Given the description of an element on the screen output the (x, y) to click on. 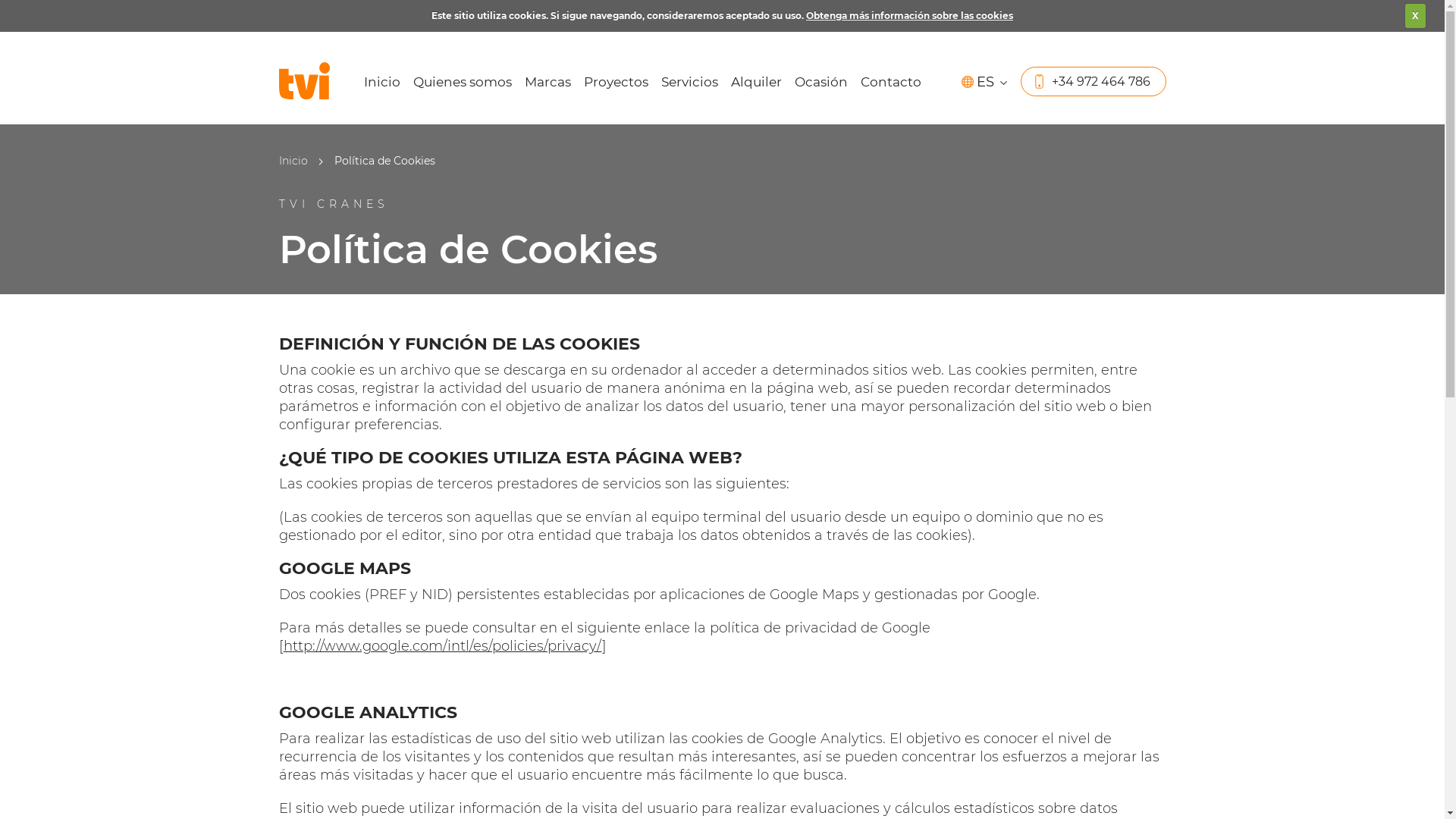
Servicios Element type: text (689, 89)
Alquiler Element type: text (756, 89)
Inicio Element type: text (382, 89)
Inicio Element type: text (293, 160)
Marcas Element type: text (547, 89)
ES Element type: text (985, 81)
http://www.google.com/intl/es/policies/privacy/ Element type: text (442, 645)
Proyectos Element type: text (615, 89)
X Element type: text (1415, 15)
+34 972 464 786 Element type: text (1093, 81)
Quienes somos Element type: text (461, 89)
Contacto Element type: text (889, 89)
